Given the description of an element on the screen output the (x, y) to click on. 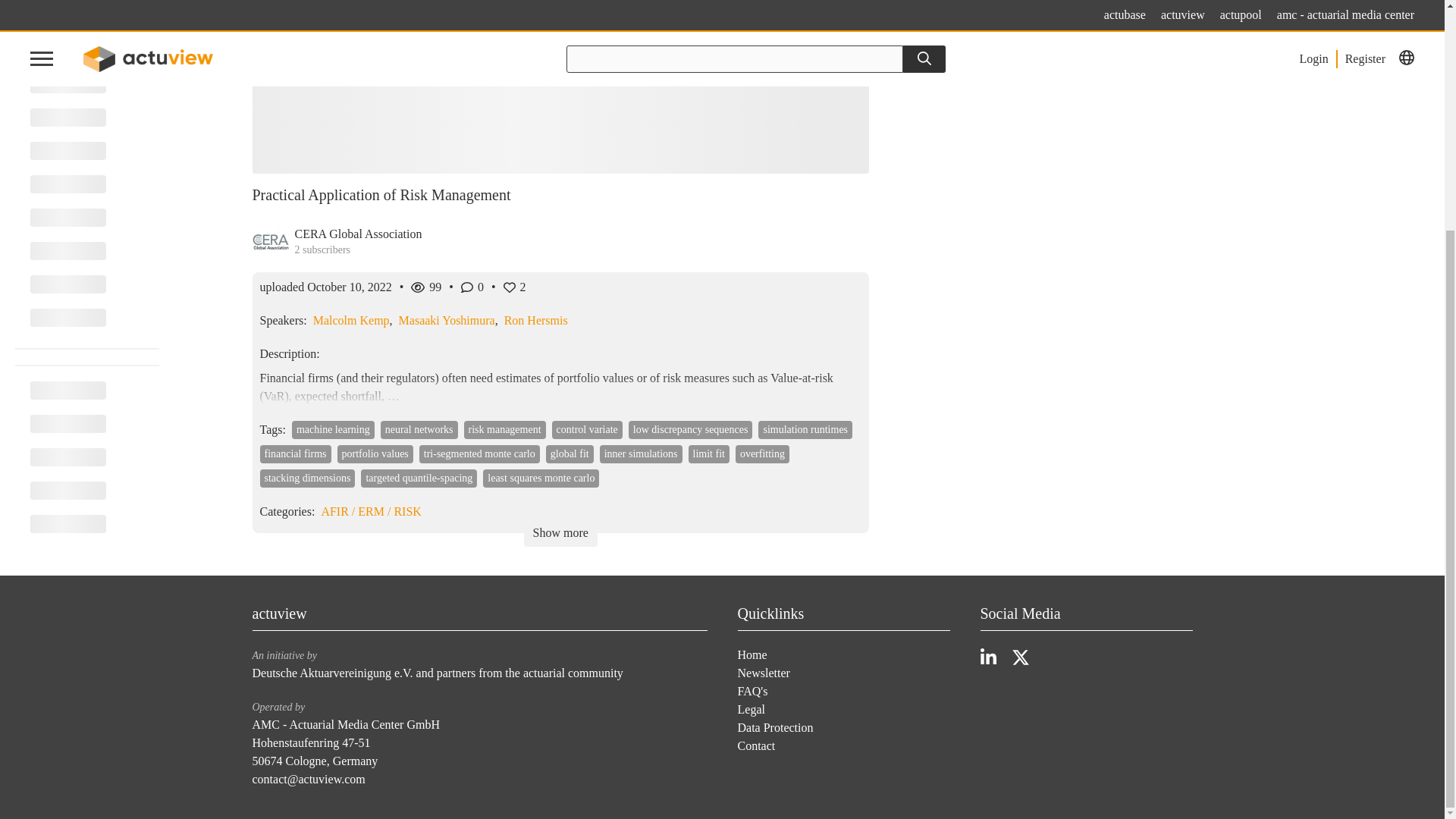
low discrepancy sequences (690, 429)
neural networks (419, 429)
Ron Hersmis (535, 319)
overfitting (762, 454)
inner simulations (640, 454)
stacking dimensions (307, 478)
Masaaki Yoshimura (446, 319)
Home (751, 654)
FAQ's (751, 690)
Newsletter (762, 672)
